Given the description of an element on the screen output the (x, y) to click on. 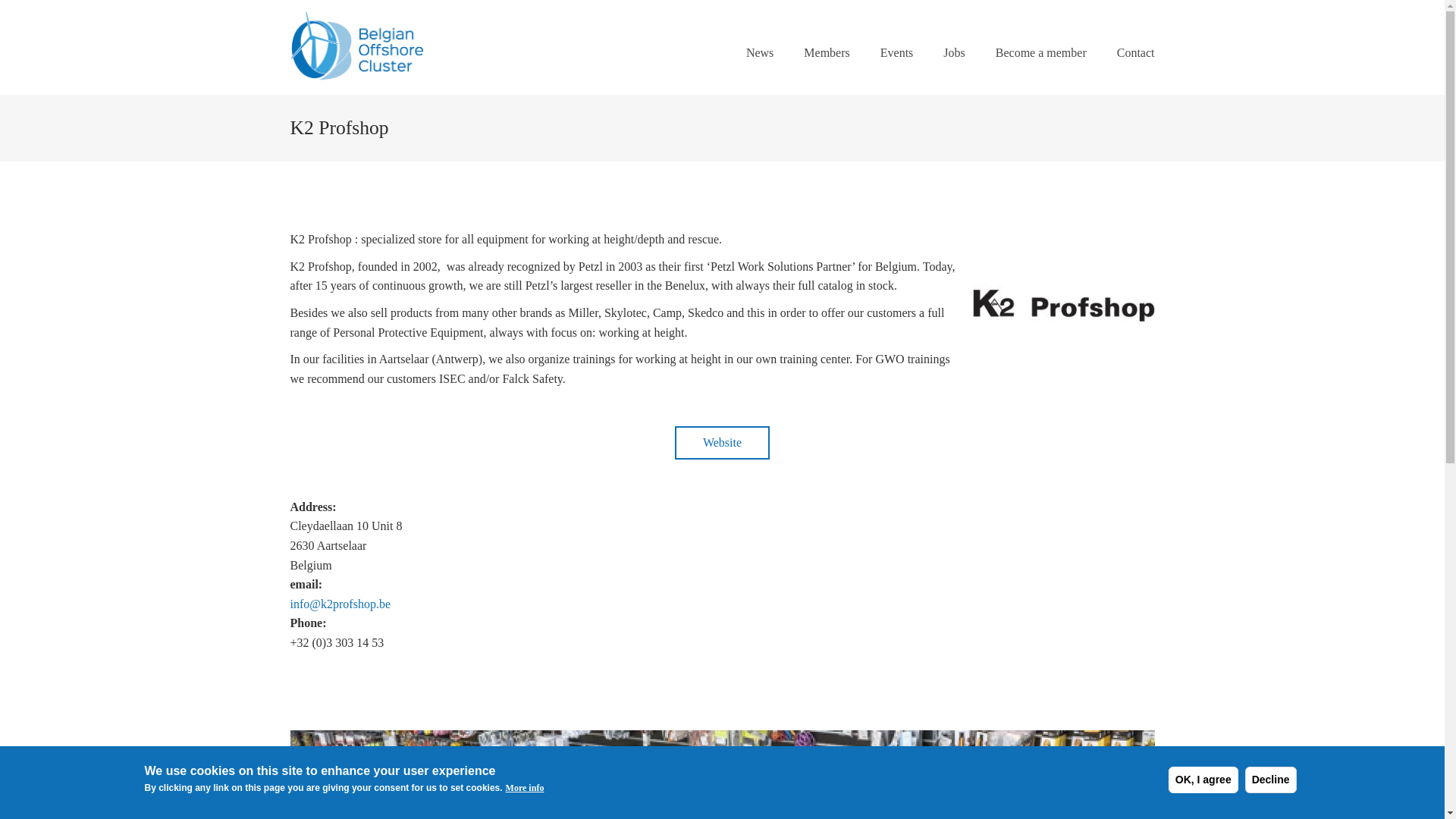
Members (826, 69)
Become a member (1040, 69)
Events (896, 69)
Contact (1128, 69)
OK, I agree (1204, 779)
News (759, 69)
Website (722, 442)
Find your job (953, 69)
Decline (1270, 779)
More info (524, 788)
Jobs (953, 69)
